Given the description of an element on the screen output the (x, y) to click on. 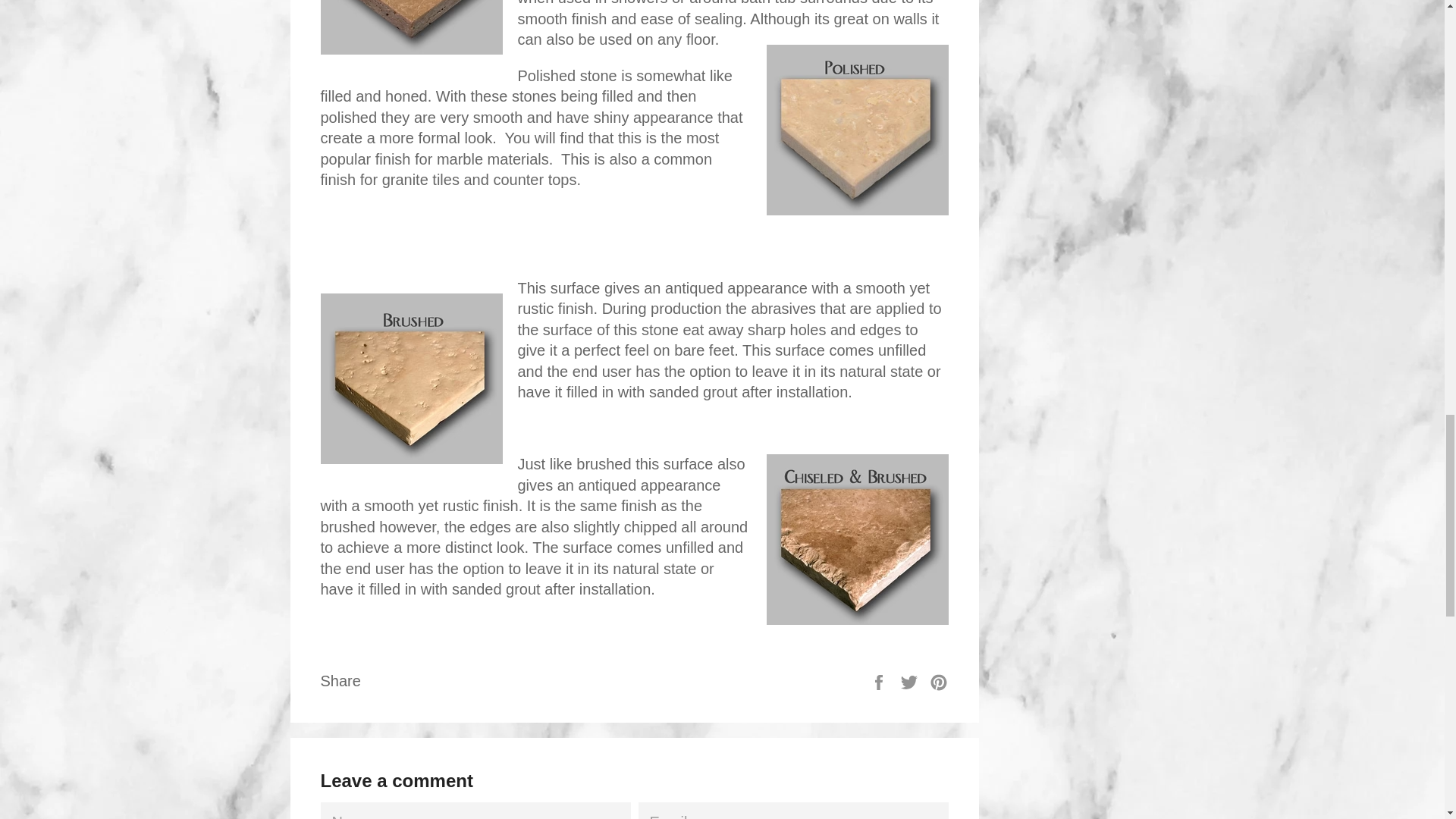
Tweet on Twitter (911, 680)
Share on Facebook (880, 680)
Pin on Pinterest (938, 680)
